Given the description of an element on the screen output the (x, y) to click on. 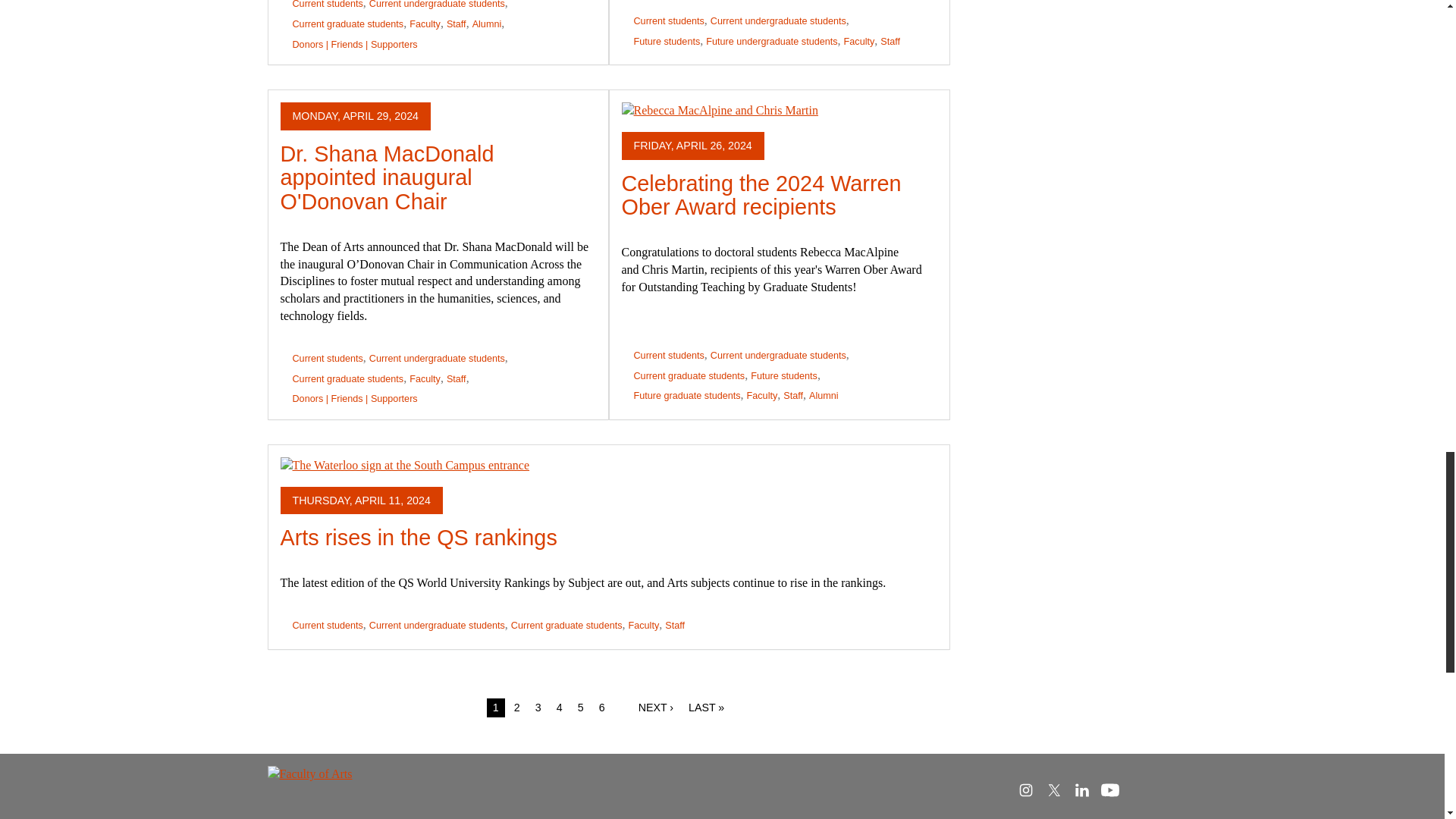
Go to page 6 (601, 708)
Go to page 4 (559, 708)
Go to next page (655, 708)
Go to last page (706, 708)
Go to page 3 (538, 708)
Go to page 2 (516, 708)
Go to page 5 (580, 708)
